Given the description of an element on the screen output the (x, y) to click on. 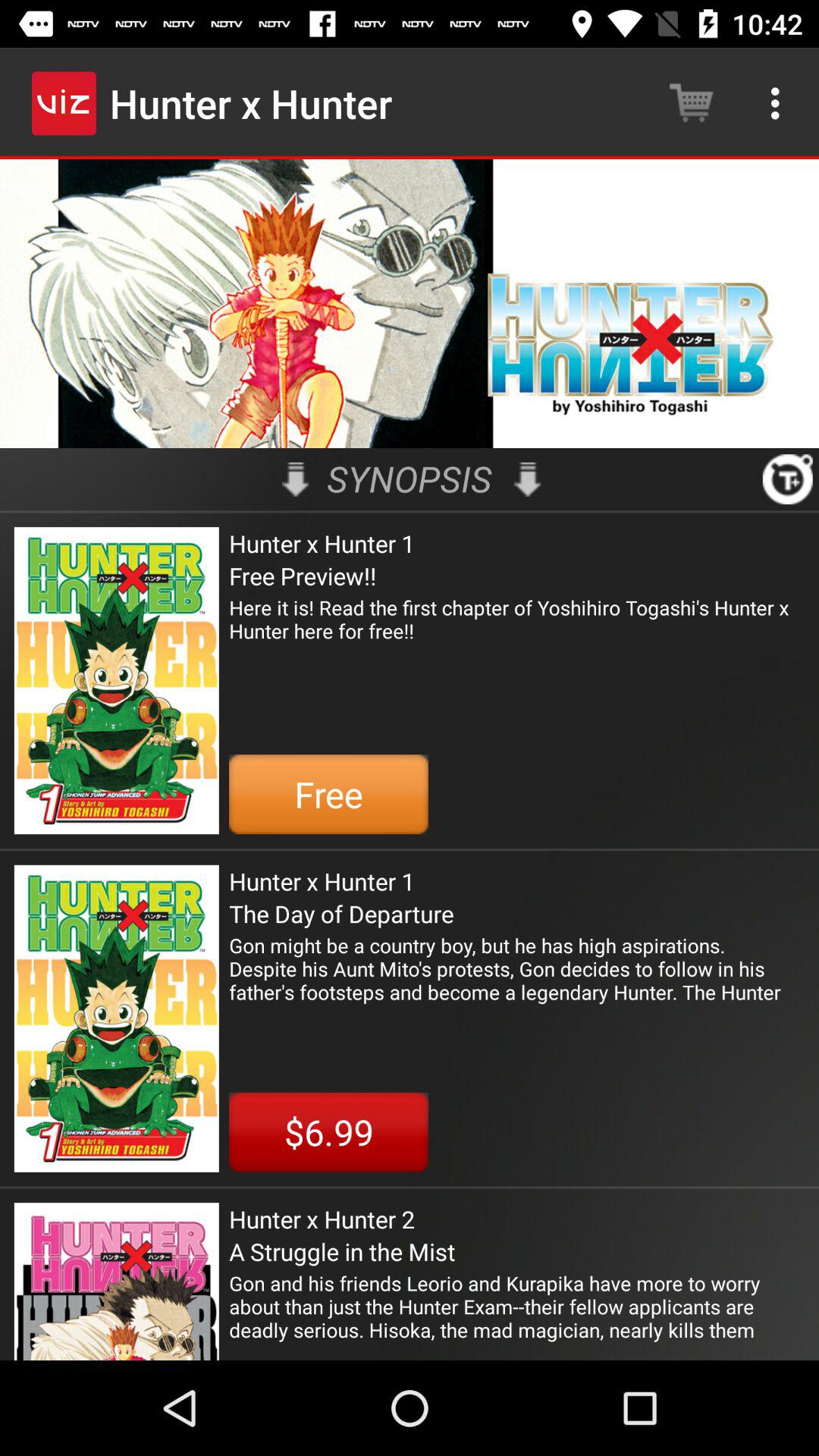
choose here it is icon (516, 630)
